Given the description of an element on the screen output the (x, y) to click on. 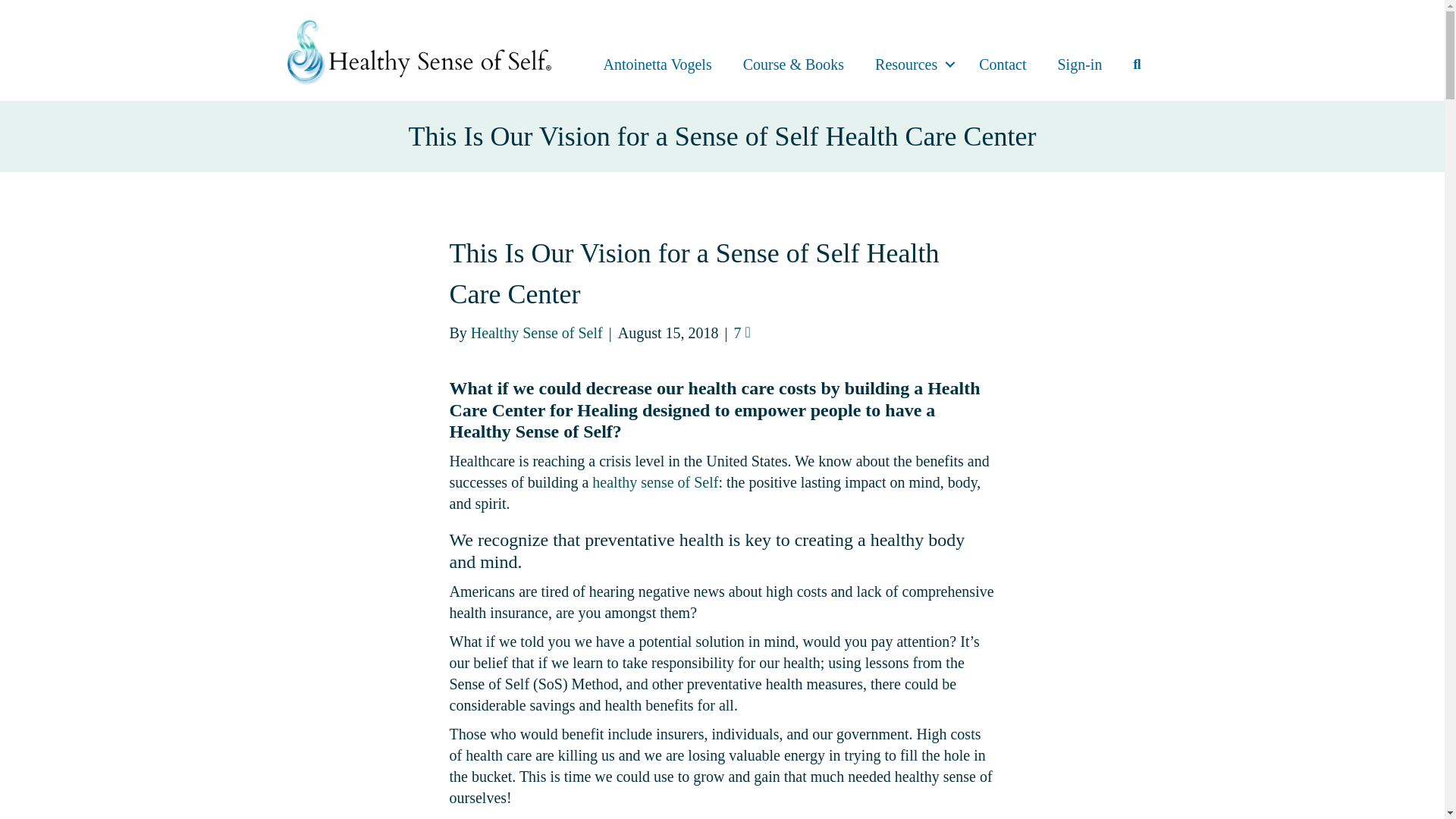
Resources (911, 64)
healthy sense of Self (654, 482)
Sign-in (1079, 64)
Healthy Sense of Self logo registered (418, 50)
Antoinetta Vogels (657, 64)
Healthy Sense of Self (536, 332)
7 (742, 332)
Search (1139, 63)
Contact (1002, 64)
